Given the description of an element on the screen output the (x, y) to click on. 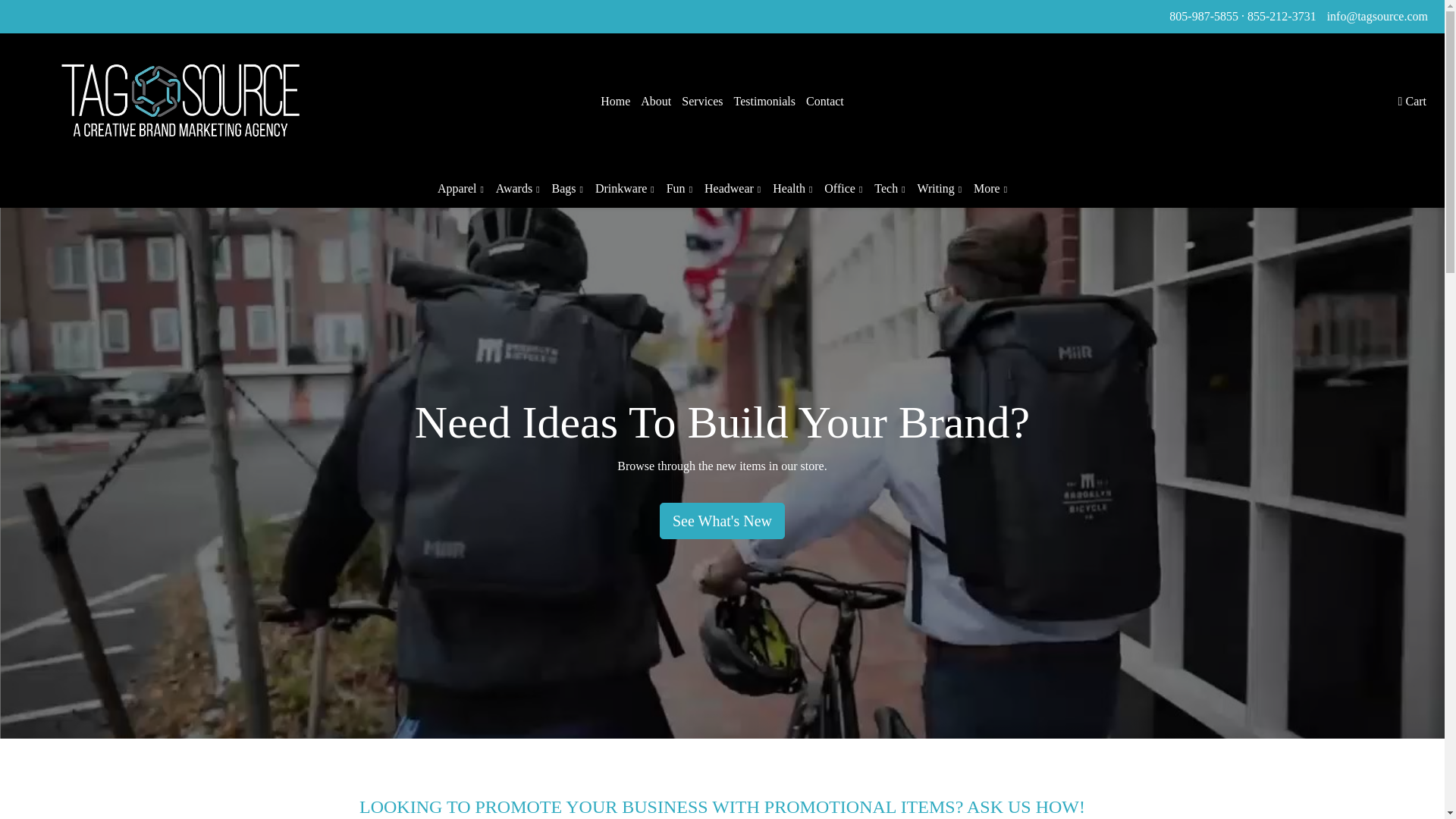
855-212-3731 (1281, 15)
Apparel (459, 189)
Home (614, 101)
Services (702, 101)
About (655, 101)
Contact (824, 101)
Testimonials (764, 101)
Cart (1412, 101)
805-987-5855 (1204, 15)
